Given the description of an element on the screen output the (x, y) to click on. 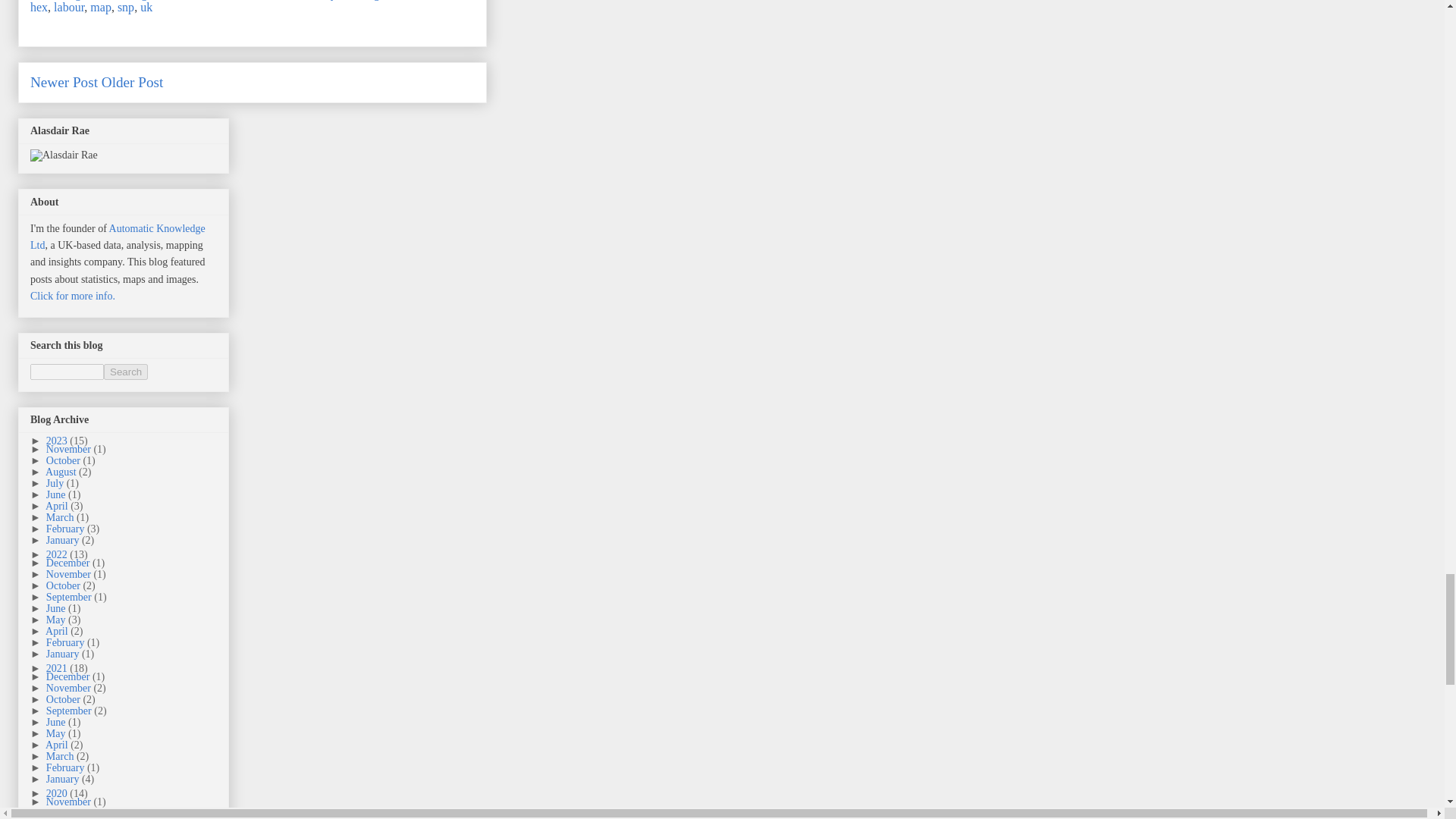
uk (145, 6)
Search (125, 371)
hex (39, 6)
search (125, 371)
Older Post (132, 82)
Automatic Knowledge Ltd (117, 236)
Older Post (132, 82)
Newer Post (63, 82)
map (101, 6)
Search (125, 371)
